Given the description of an element on the screen output the (x, y) to click on. 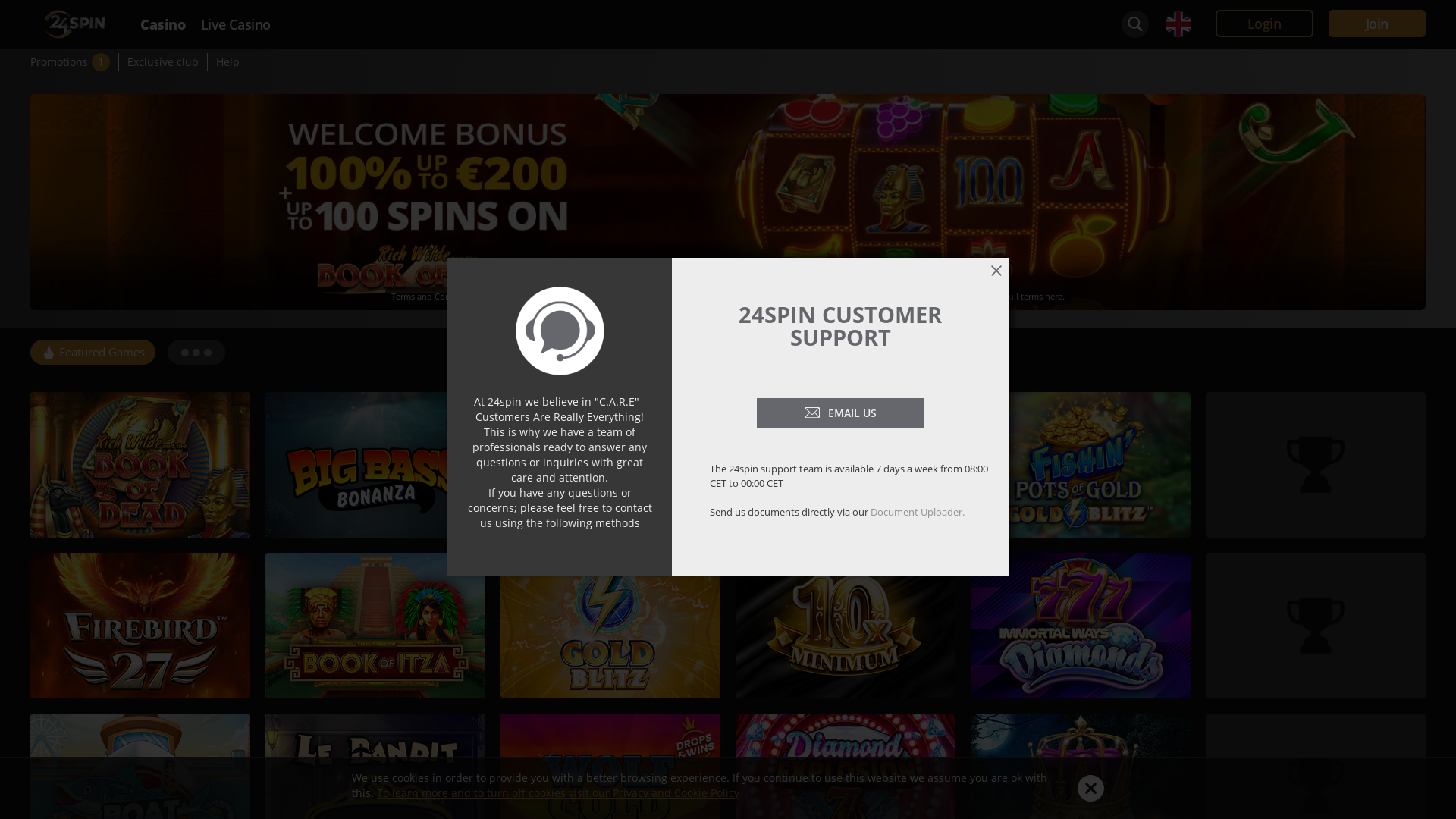
Live Casino Element type: text (235, 24)
Casino Element type: text (162, 24)
Document Uploader. Element type: text (917, 511)
Login Element type: text (1264, 23)
Join Element type: text (1376, 23)
